Given the description of an element on the screen output the (x, y) to click on. 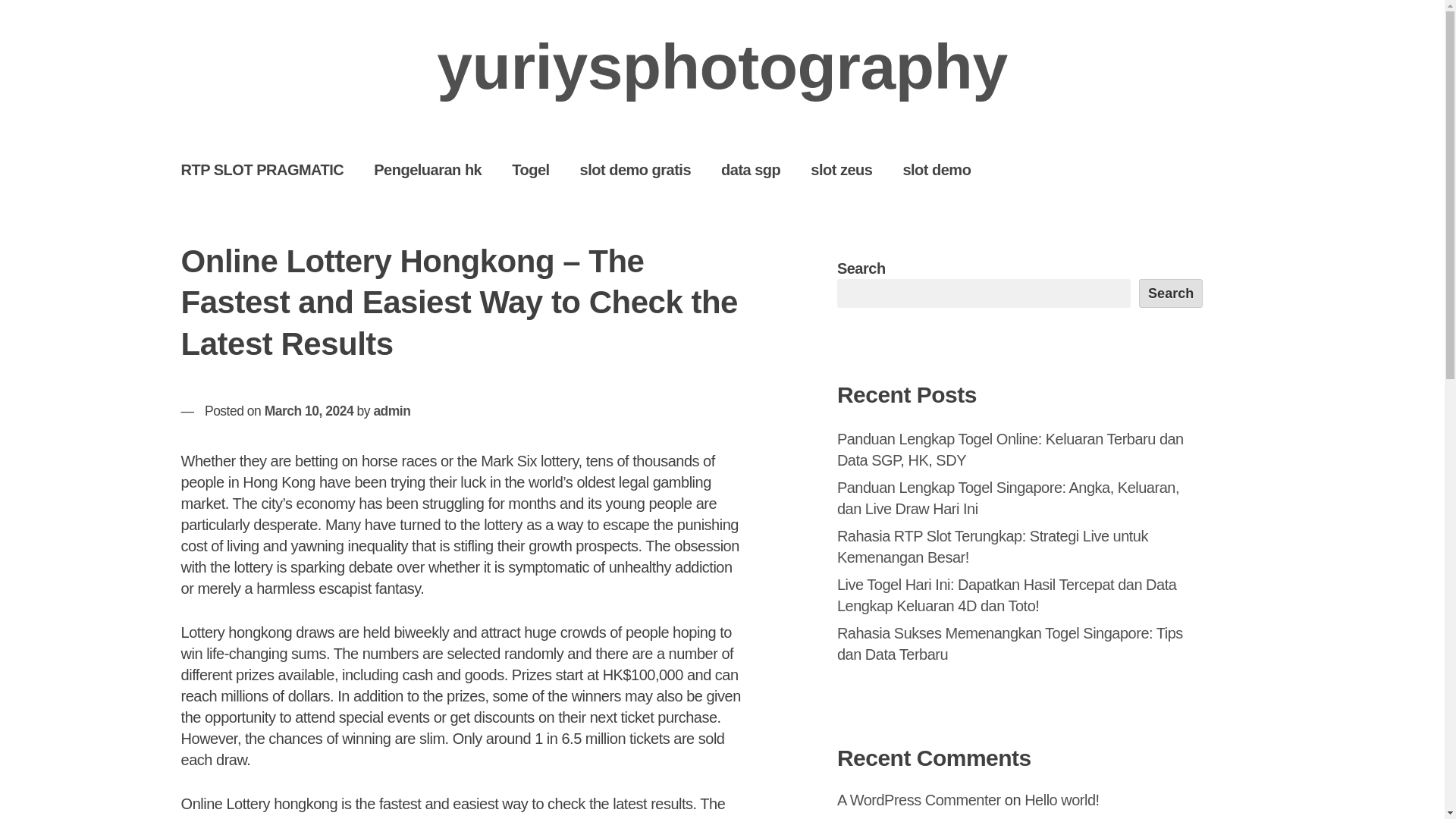
data sgp (750, 169)
March 10, 2024 (308, 410)
admin (391, 410)
Pengeluaran hk (427, 169)
Hello world! (1062, 799)
Search (1171, 293)
slot demo gratis (635, 169)
